Given the description of an element on the screen output the (x, y) to click on. 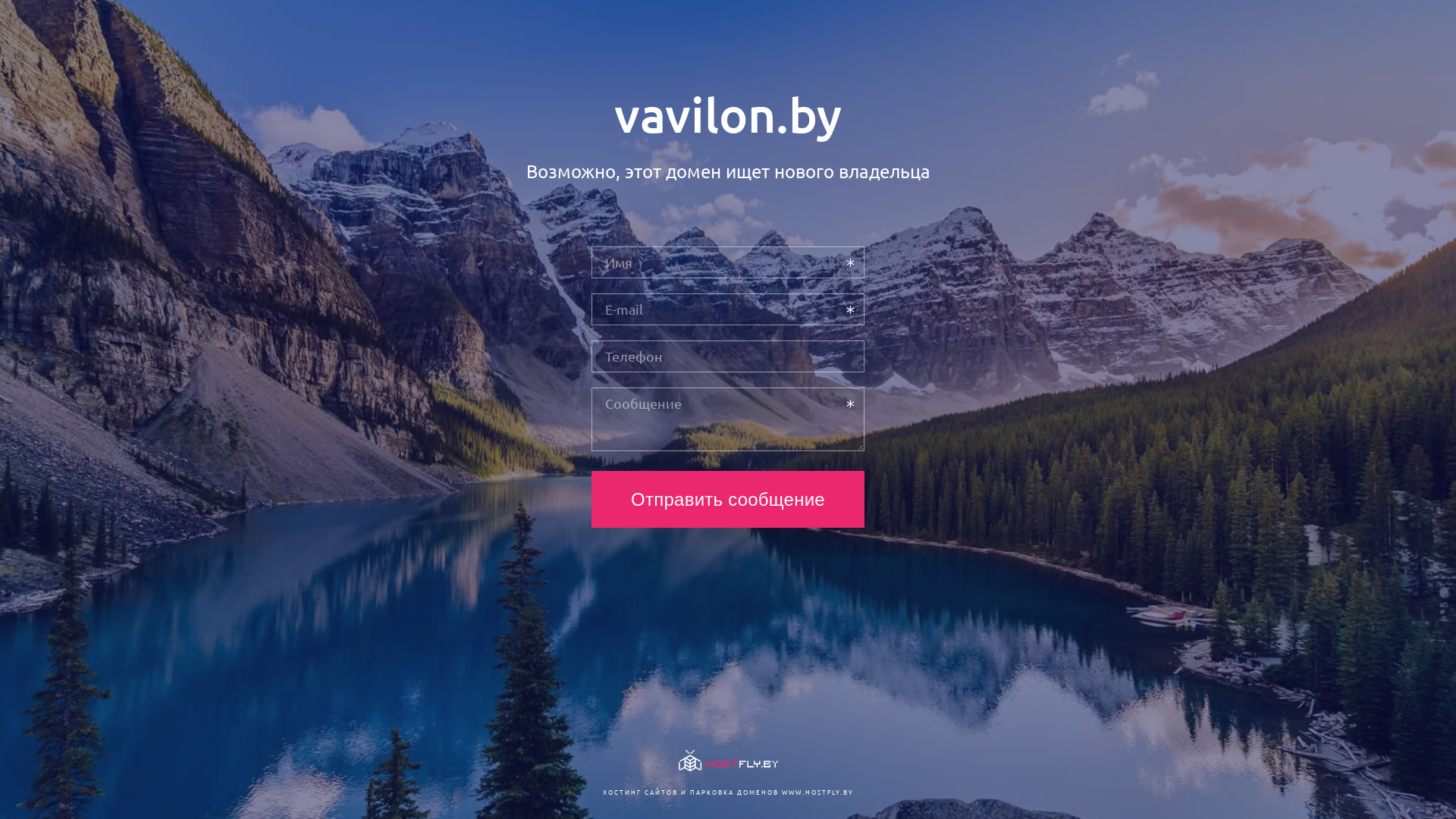
WWW.HOSTFLY.BY Element type: text (817, 791)
